Given the description of an element on the screen output the (x, y) to click on. 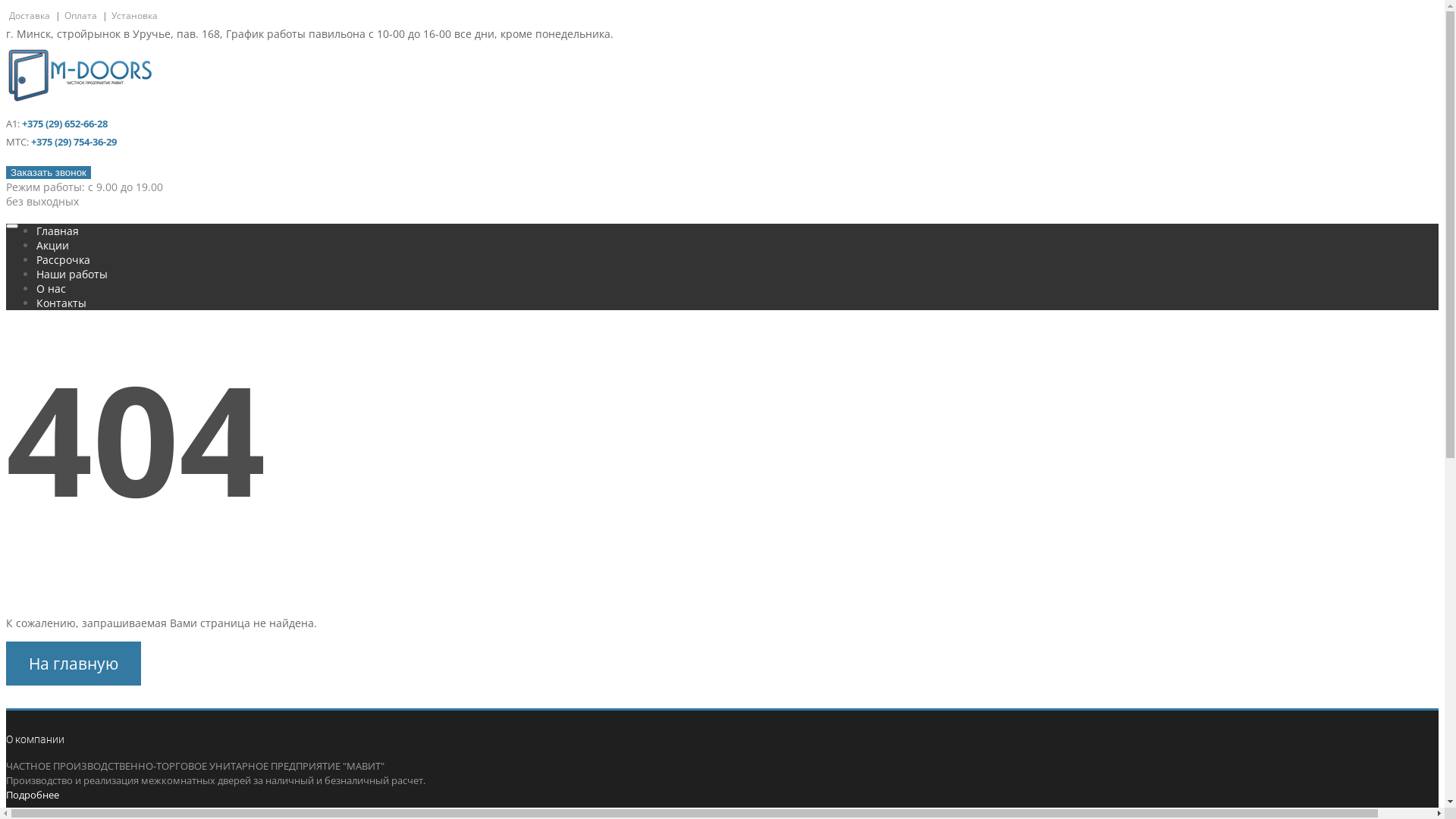
+375 (29) 754-36-29 Element type: text (73, 141)
+375 (29) 652-66-28 Element type: text (64, 123)
